Given the description of an element on the screen output the (x, y) to click on. 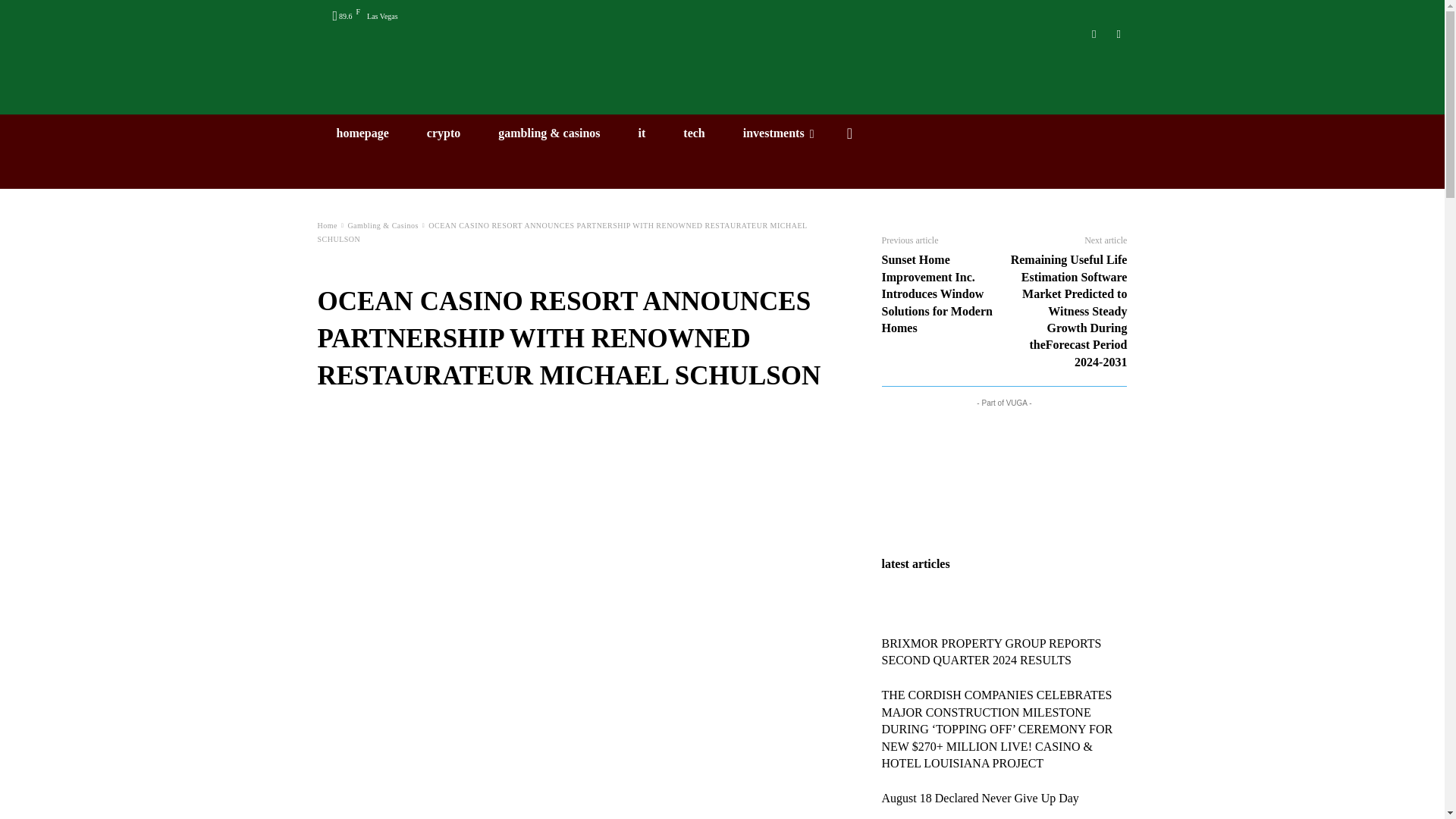
tech (693, 132)
it (642, 132)
Instagram (1094, 34)
Sam Cash 21 (721, 81)
investments (777, 132)
crypto (443, 132)
homepage (362, 132)
Facebook (1117, 34)
Sam Cash 21 (721, 81)
